Given the description of an element on the screen output the (x, y) to click on. 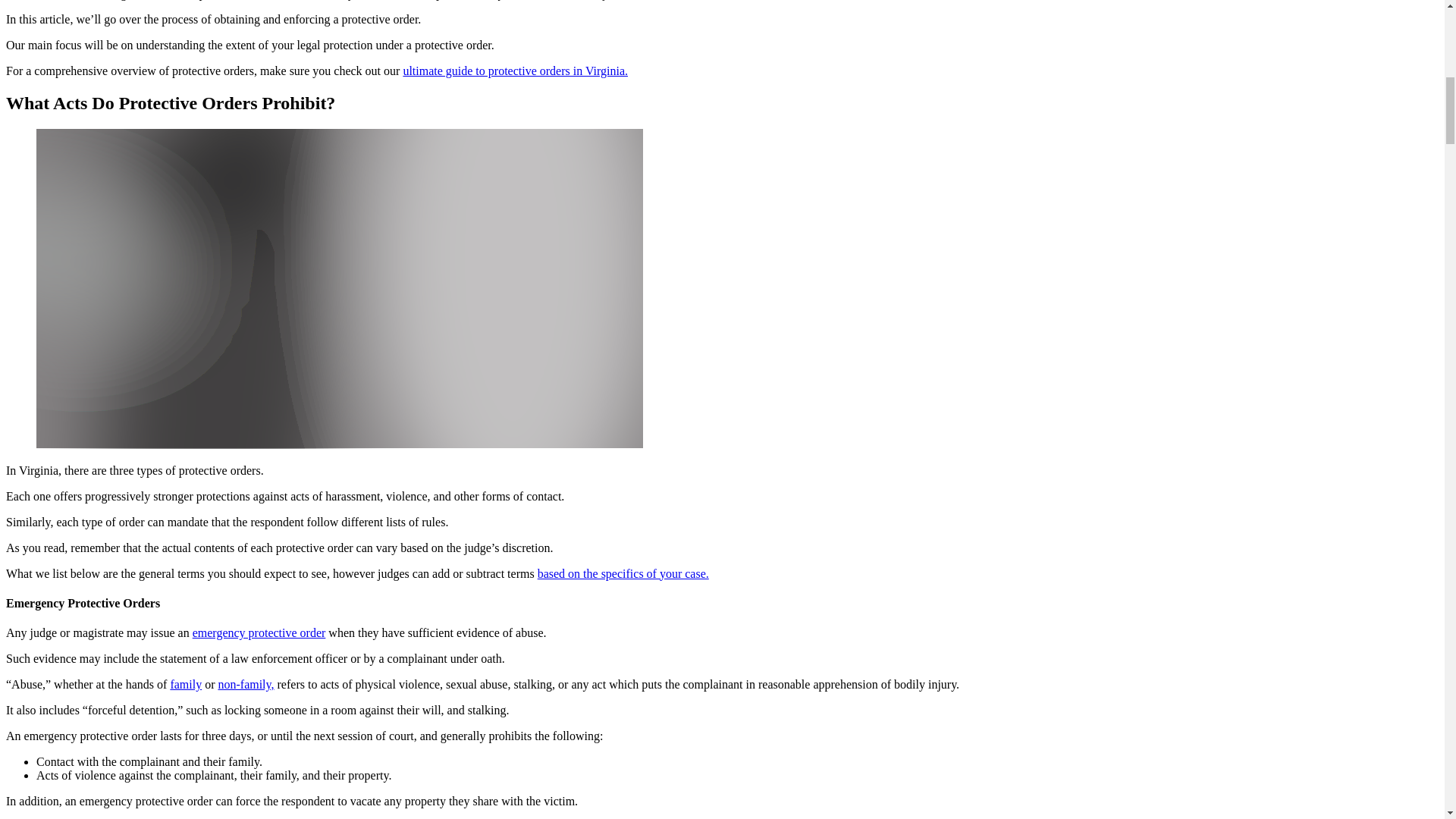
family (186, 684)
based on the specifics of your case. (623, 573)
ultimate guide to protective orders in Virginia. (515, 70)
non-family, (244, 684)
emergency protective order (259, 632)
